Given the description of an element on the screen output the (x, y) to click on. 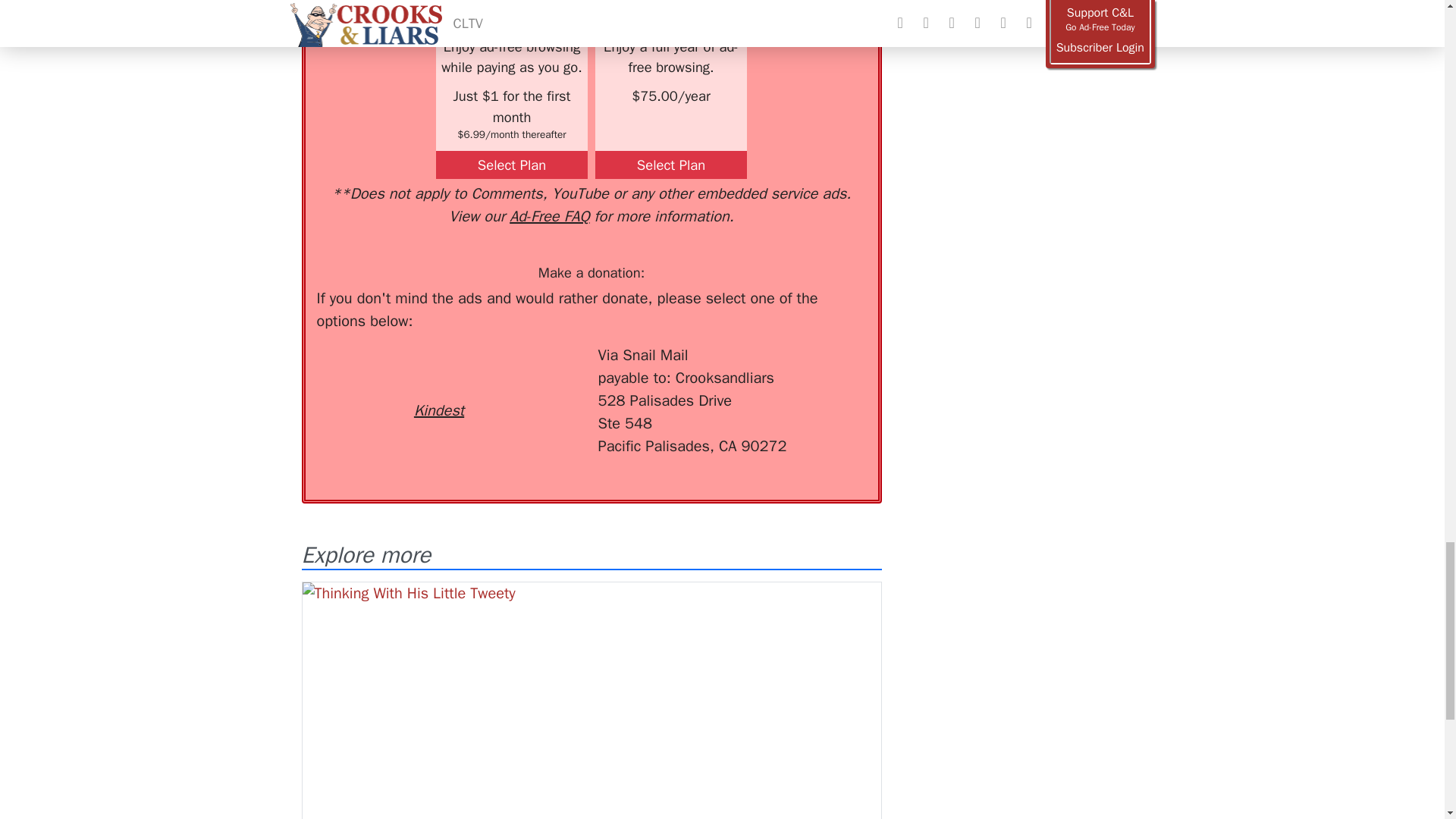
Donate via PayPal (540, 371)
Donate via Kindest (438, 382)
